Given the description of an element on the screen output the (x, y) to click on. 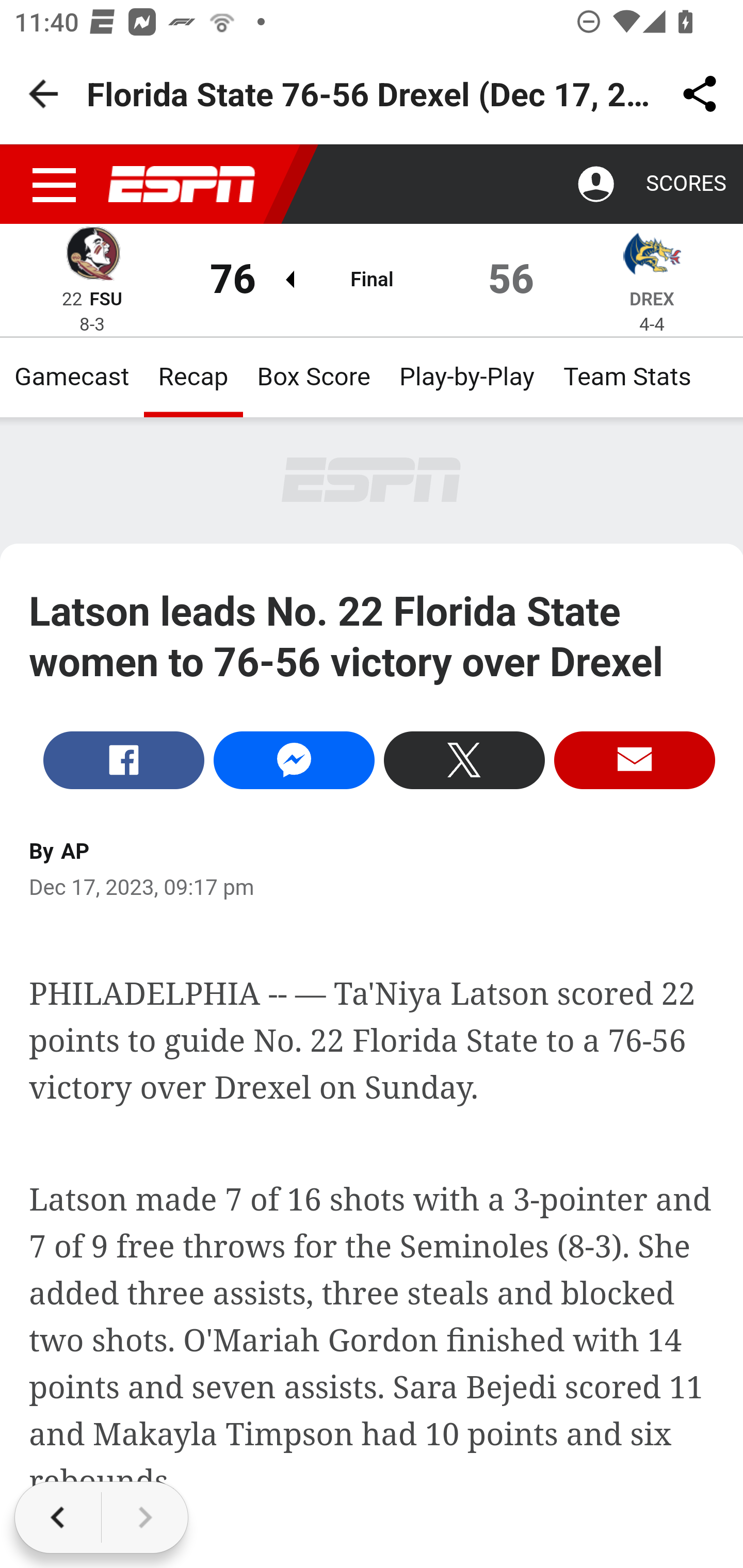
Menu (54, 184)
ESPN Home Page (182, 184)
Profile Management (596, 184)
SCORES (685, 184)
Florida State Seminoles (91, 257)
Drexel Dragons (651, 257)
Gamecast (72, 376)
Recap (192, 376)
Box Score (314, 376)
Play-by-Play (466, 376)
Team Stats (627, 376)
Facebook (124, 759)
Facebook Messenger (294, 759)
Twitter (463, 759)
Email (634, 759)
